Given the description of an element on the screen output the (x, y) to click on. 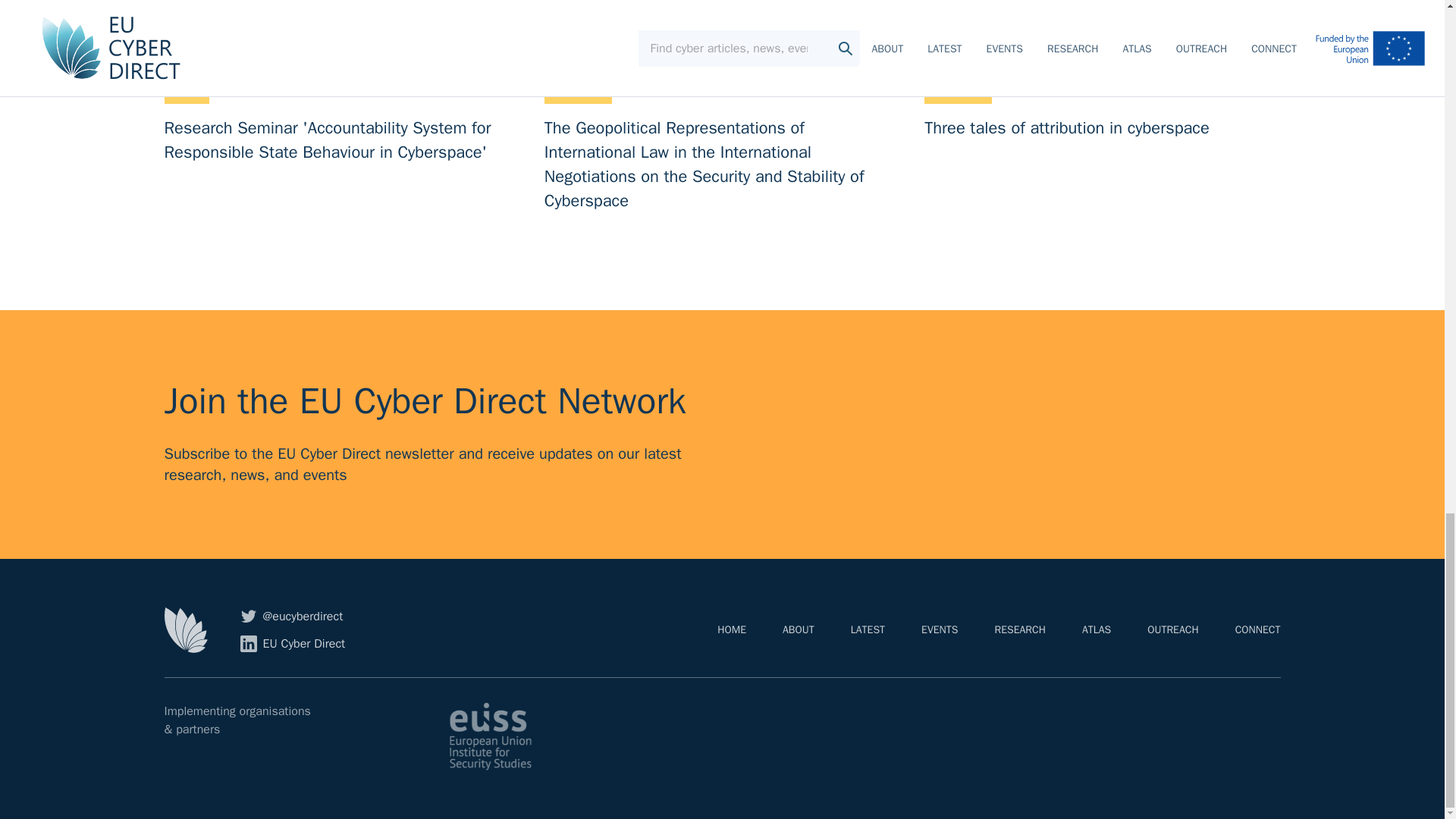
HOME (731, 629)
EVENTS (1101, 106)
OUTREACH (939, 629)
ATLAS (1172, 629)
ABOUT (1095, 629)
LATEST (798, 629)
EU Cyber Direct (867, 629)
CONNECT (292, 643)
RESEARCH (1257, 629)
